Given the description of an element on the screen output the (x, y) to click on. 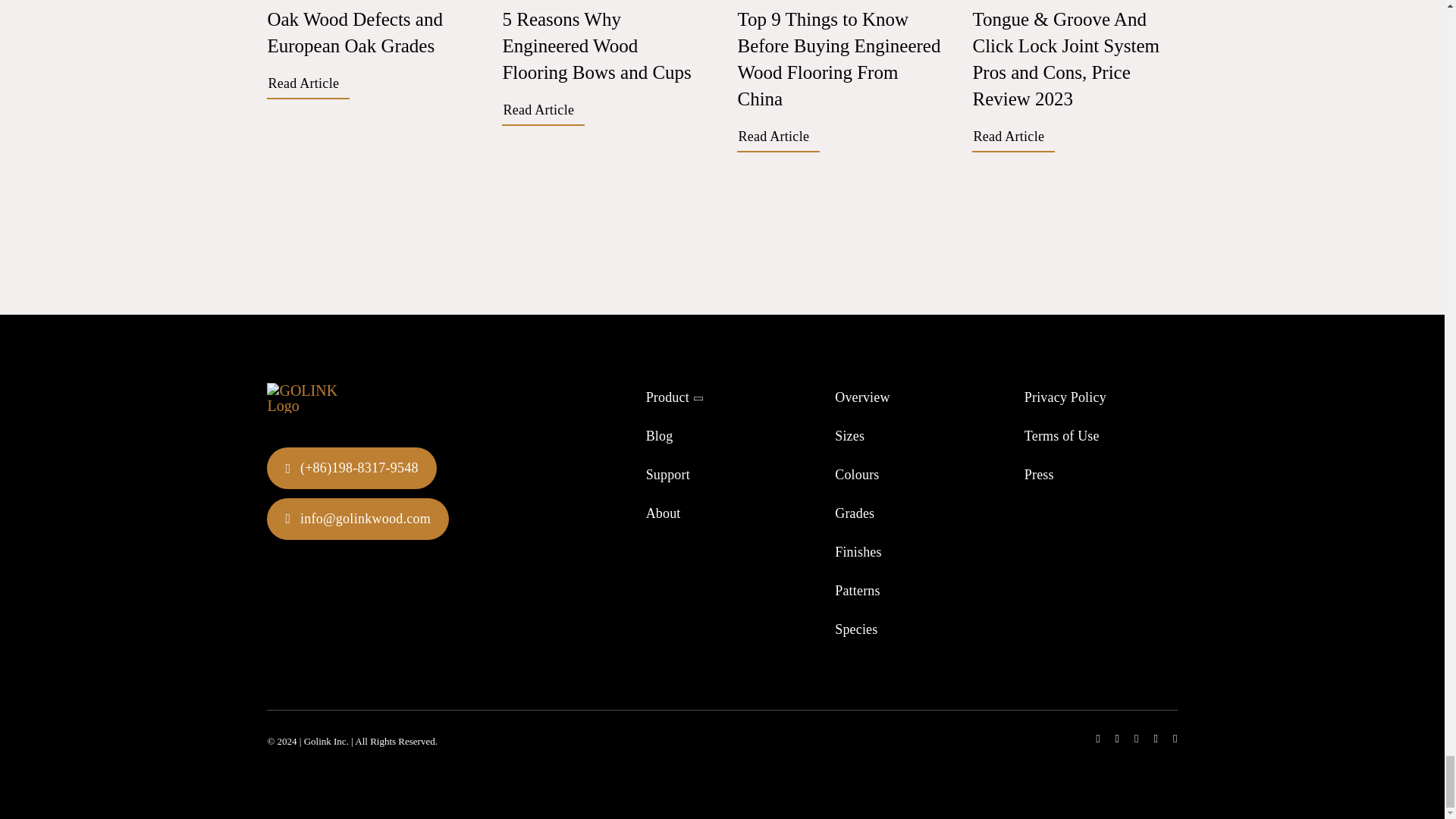
5 Reasons Why Engineered Wood Flooring Bows and Cups (596, 45)
Product (722, 398)
Oak Wood Defects and European Oak Grades (354, 32)
Read Article (307, 85)
Read Article (777, 138)
Read Article (542, 112)
Read Article (1013, 138)
